Given the description of an element on the screen output the (x, y) to click on. 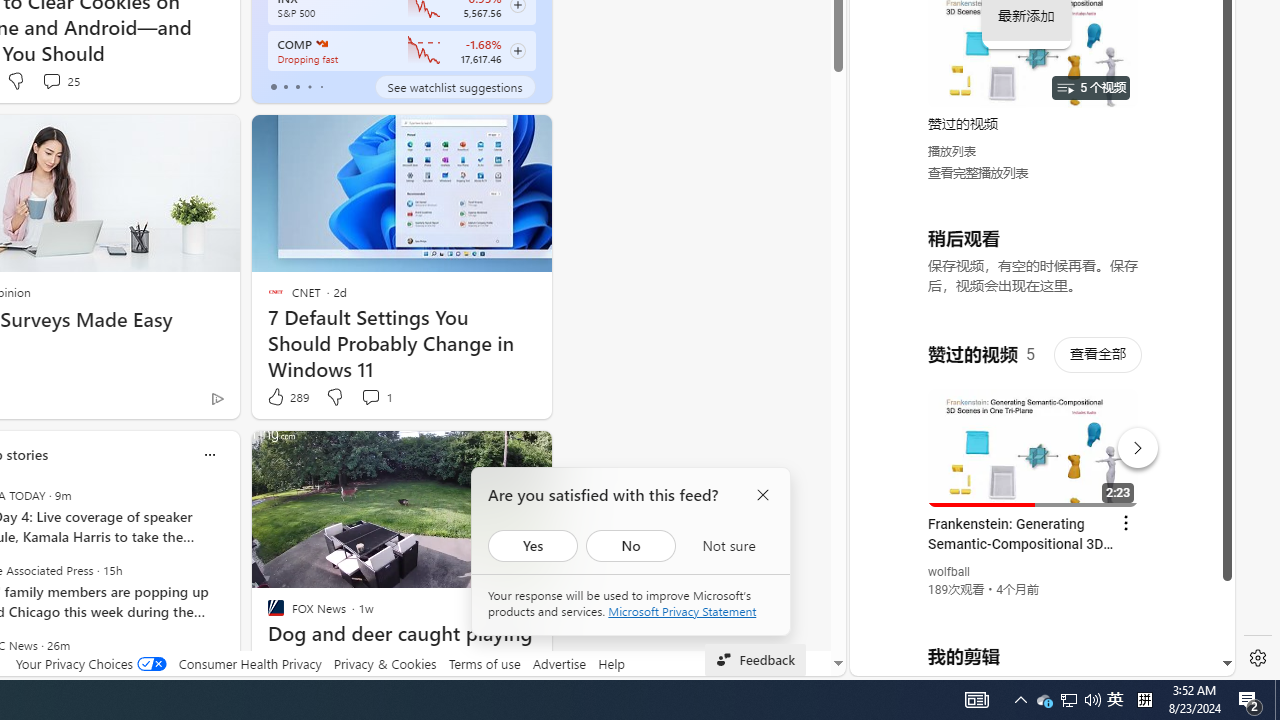
Ad Choice (217, 398)
Consumer Health Privacy (249, 663)
See watchlist suggestions (454, 86)
tab-1 (285, 86)
Your Privacy Choices (90, 663)
View comments 1 Comment (376, 397)
Global web icon (888, 432)
More options (209, 454)
Dislike (334, 397)
Feedback (755, 659)
